Given the description of an element on the screen output the (x, y) to click on. 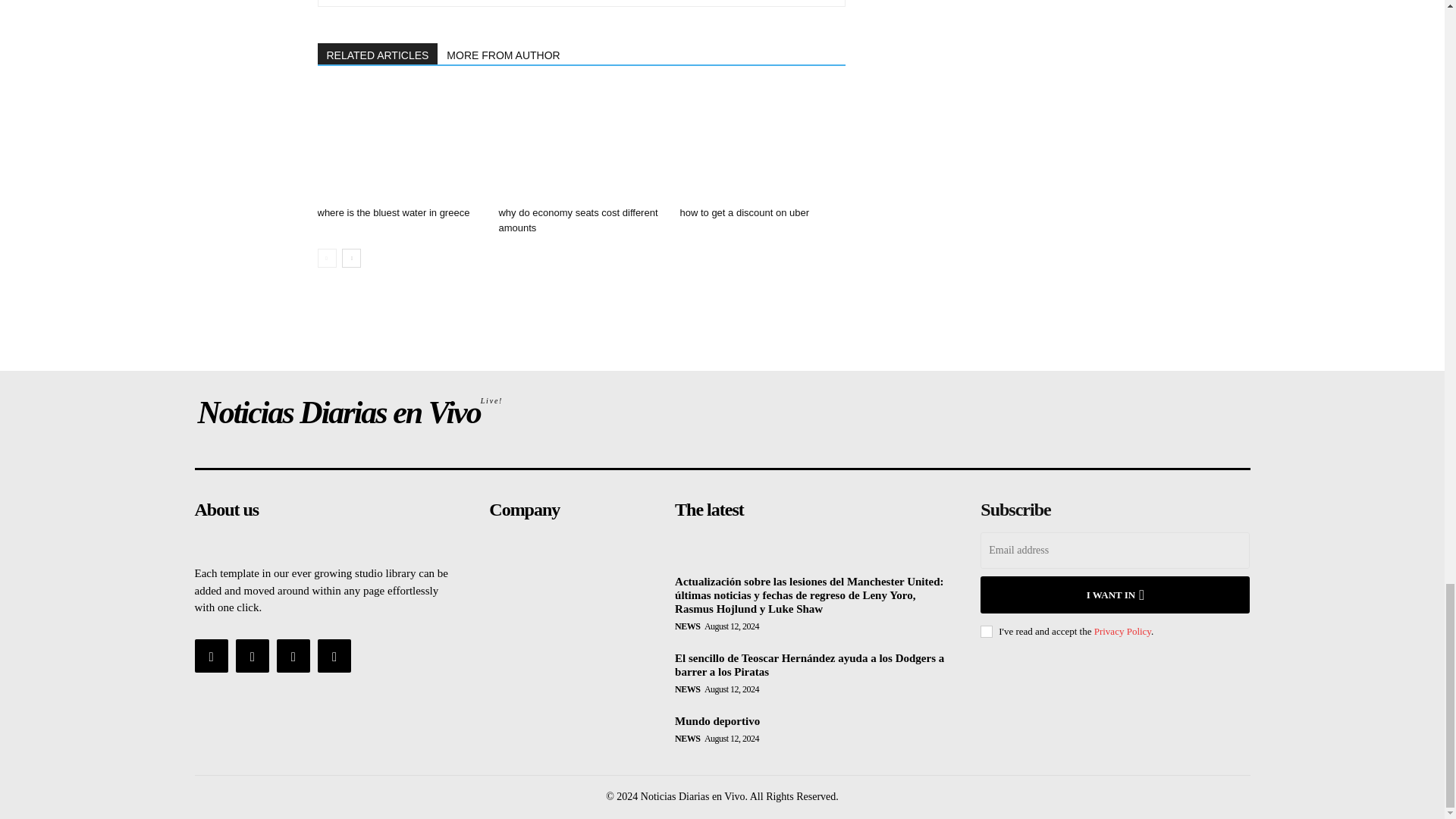
MORE FROM AUTHOR (503, 53)
RELATED ARTICLES (377, 53)
where is the bluest water in greece (392, 212)
how to get a discount on uber (744, 212)
why do economy seats cost different amounts (577, 220)
